Given the description of an element on the screen output the (x, y) to click on. 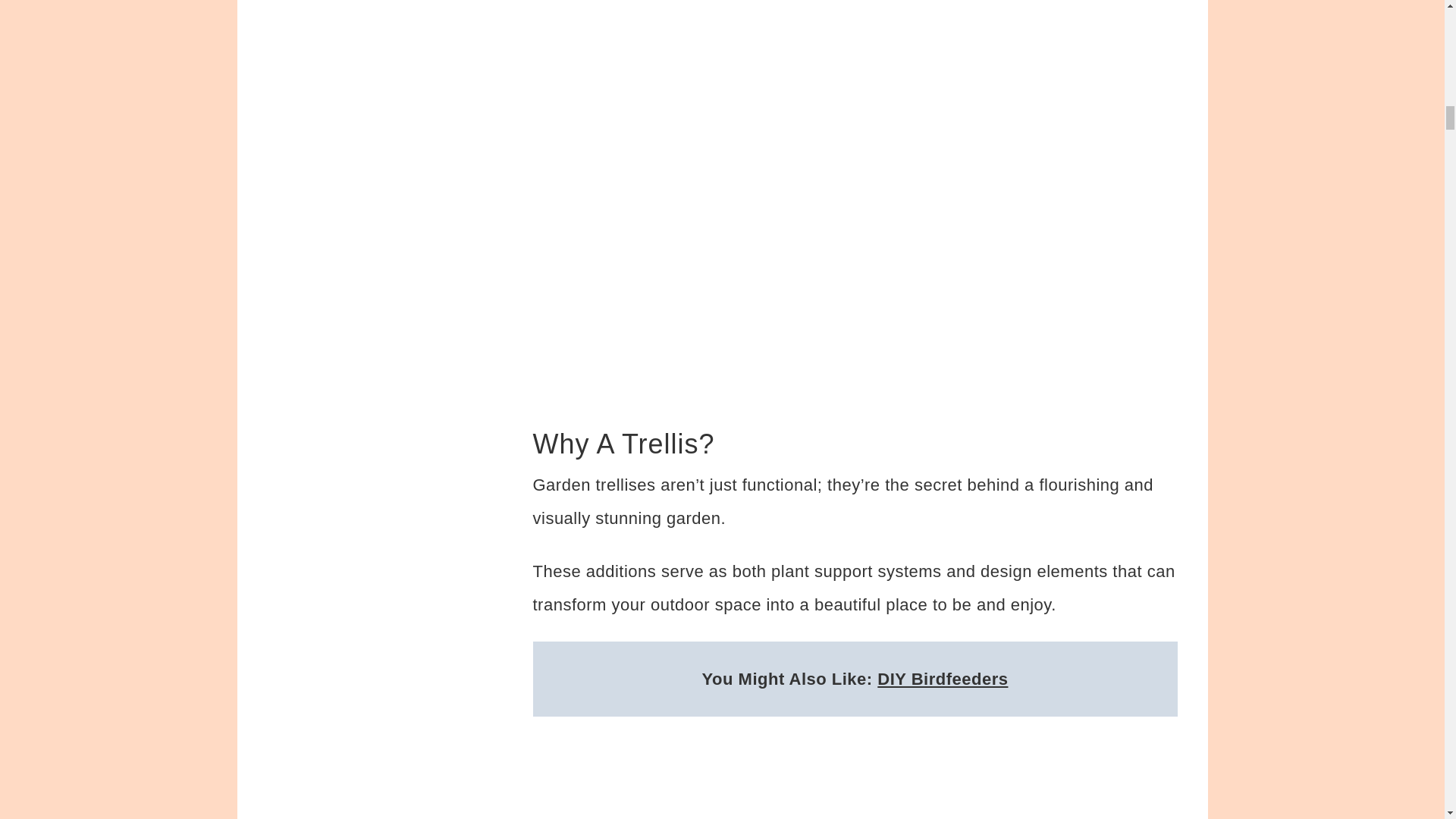
DIY Birdfeeders (942, 678)
